Given the description of an element on the screen output the (x, y) to click on. 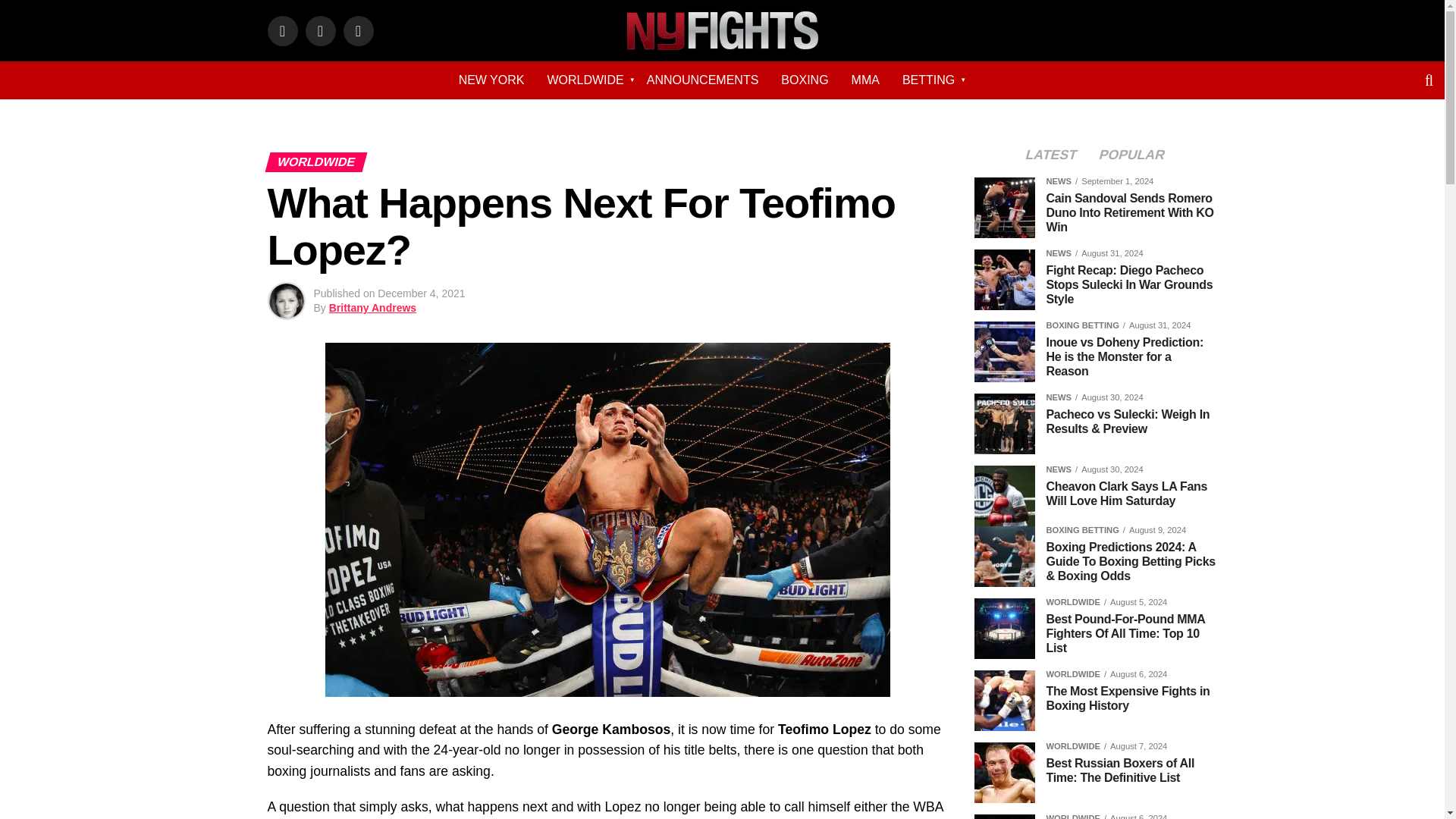
MMA (865, 80)
ANNOUNCEMENTS (702, 80)
WORLDWIDE (584, 80)
BOXING (805, 80)
BETTING (928, 80)
NEW YORK (490, 80)
